Given the description of an element on the screen output the (x, y) to click on. 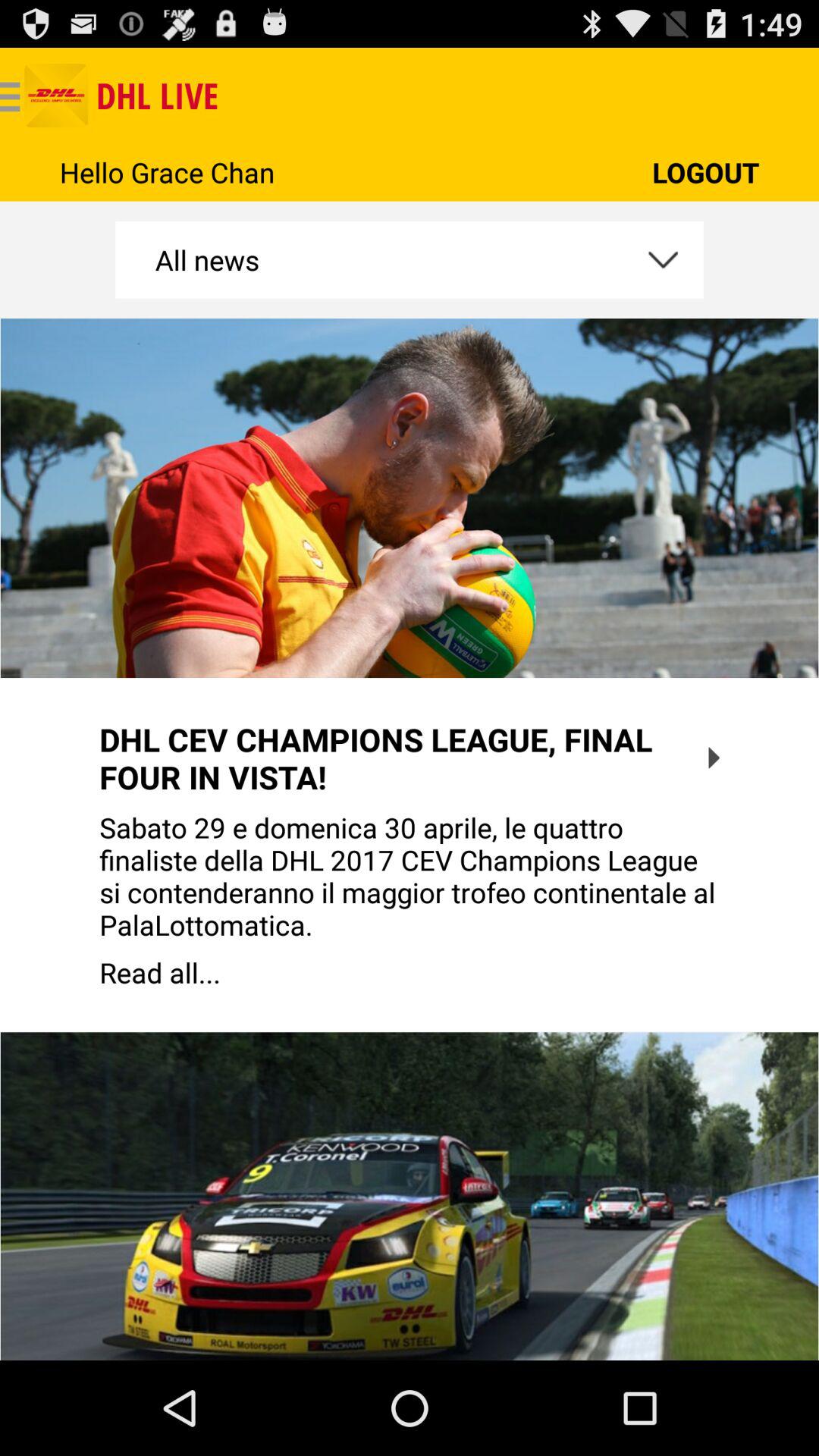
turn on the icon on the right (713, 757)
